Given the description of an element on the screen output the (x, y) to click on. 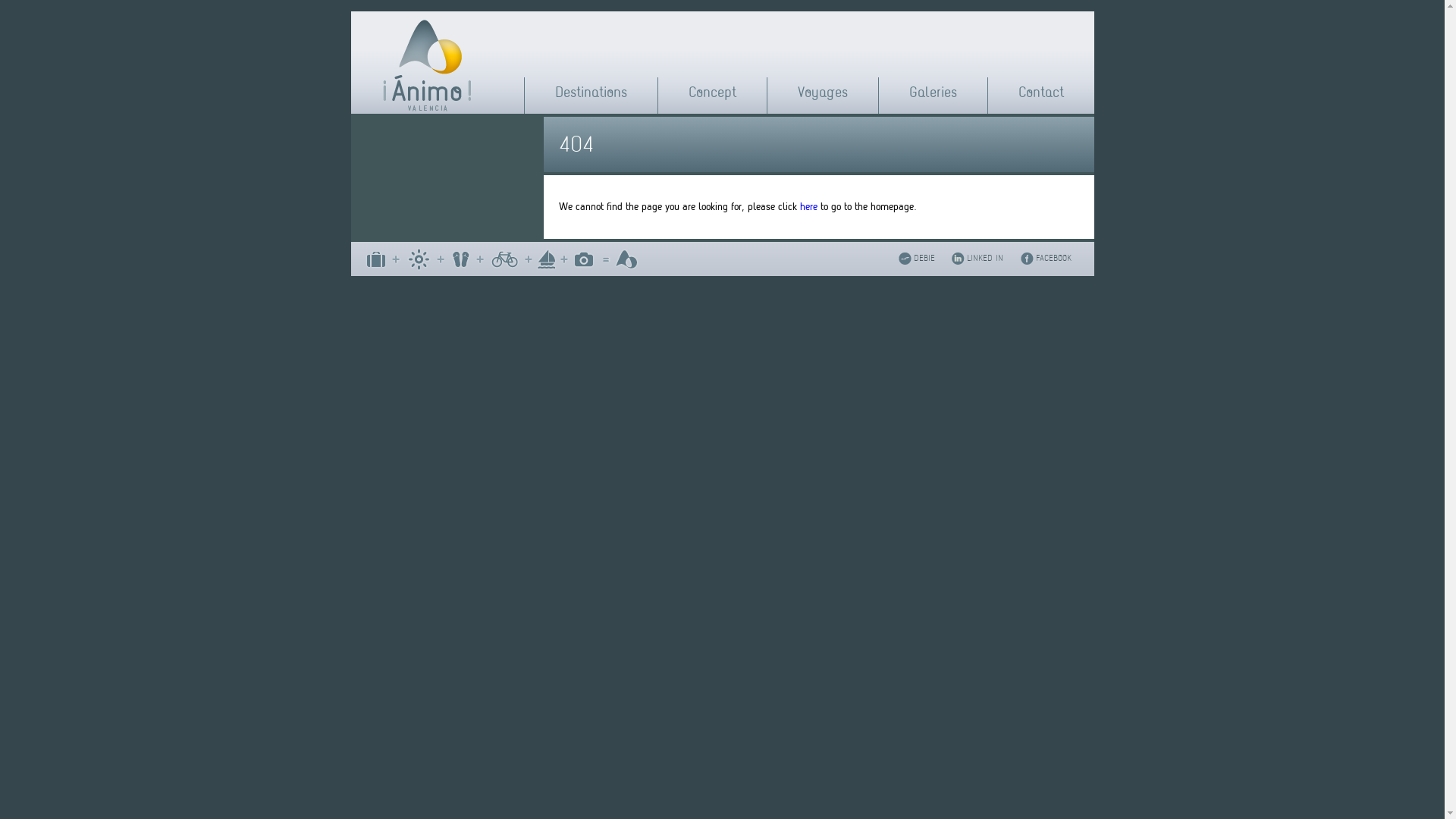
Voyages Element type: text (822, 91)
Concept Element type: text (712, 91)
LINKED IN Element type: text (987, 255)
here Element type: text (807, 206)
DEBIE Element type: text (927, 255)
Contact Element type: text (1040, 91)
Galeries Element type: text (932, 91)
FACEBOOK Element type: text (1057, 255)
